Given the description of an element on the screen output the (x, y) to click on. 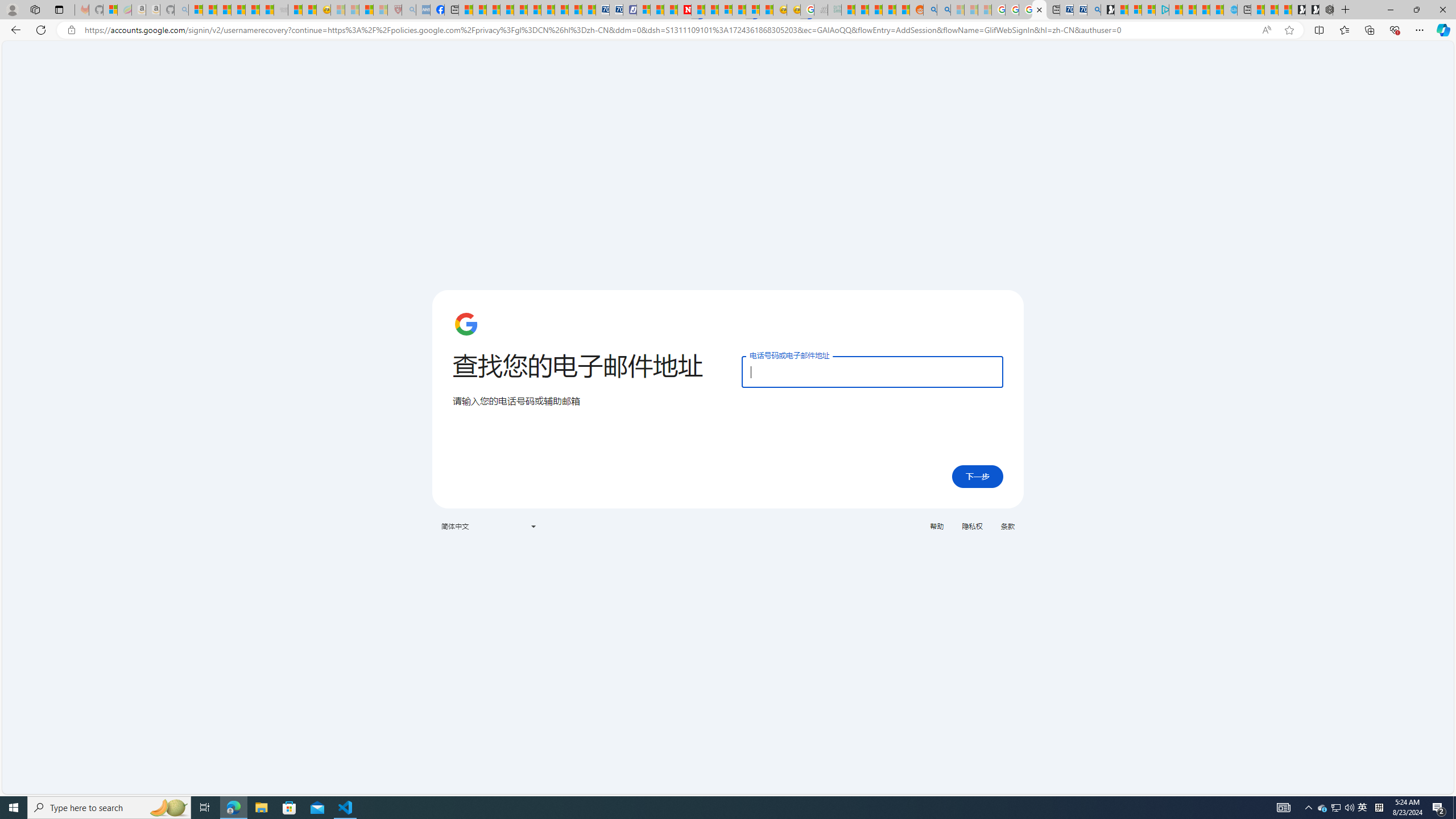
Combat Siege - Sleeping (280, 9)
